Given the description of an element on the screen output the (x, y) to click on. 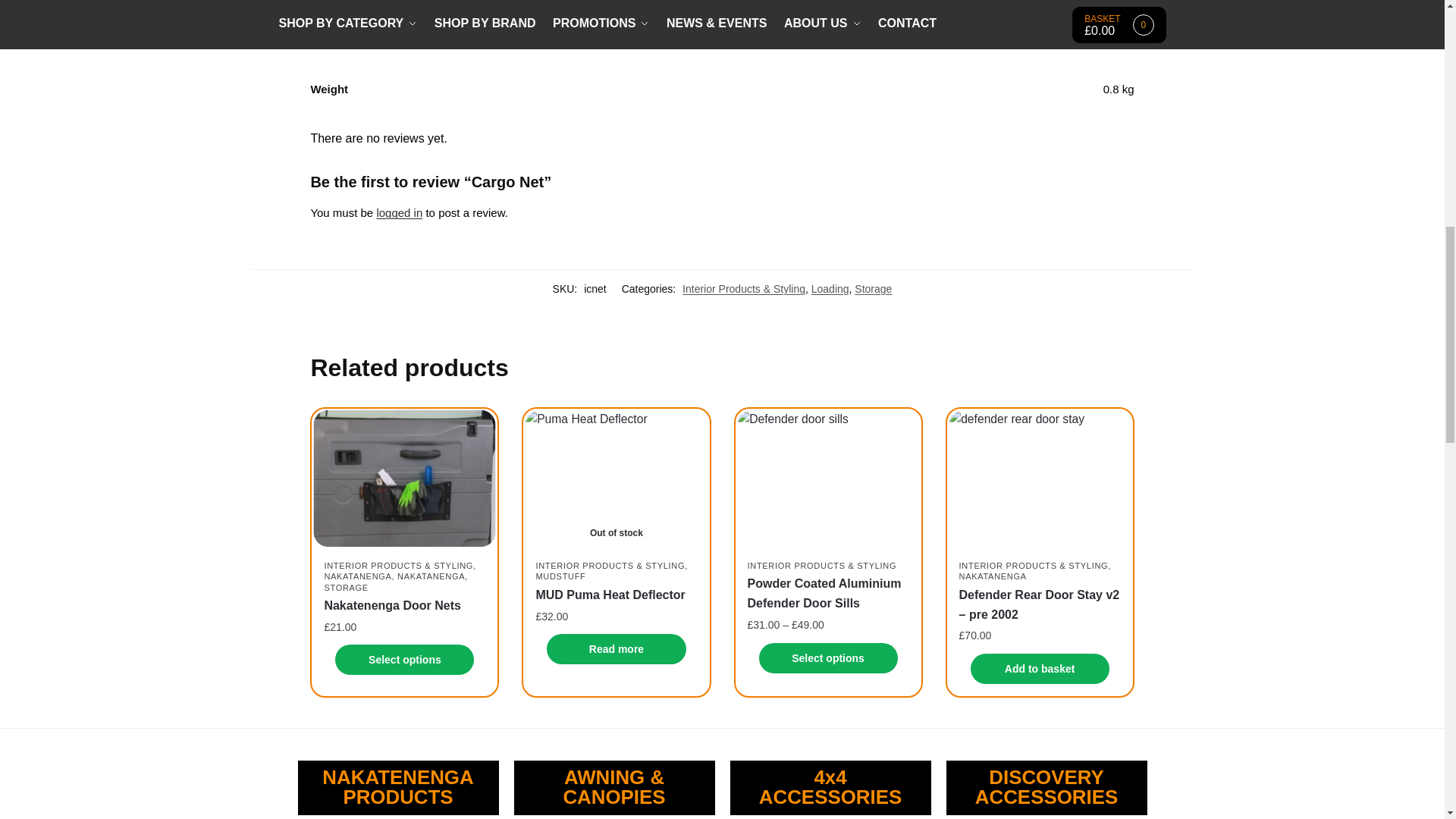
MUD Puma Heat Deflector (615, 477)
Nakatenenga Door Nets (404, 477)
Powder Coated Aluminium Defender Door Sills (828, 477)
